Given the description of an element on the screen output the (x, y) to click on. 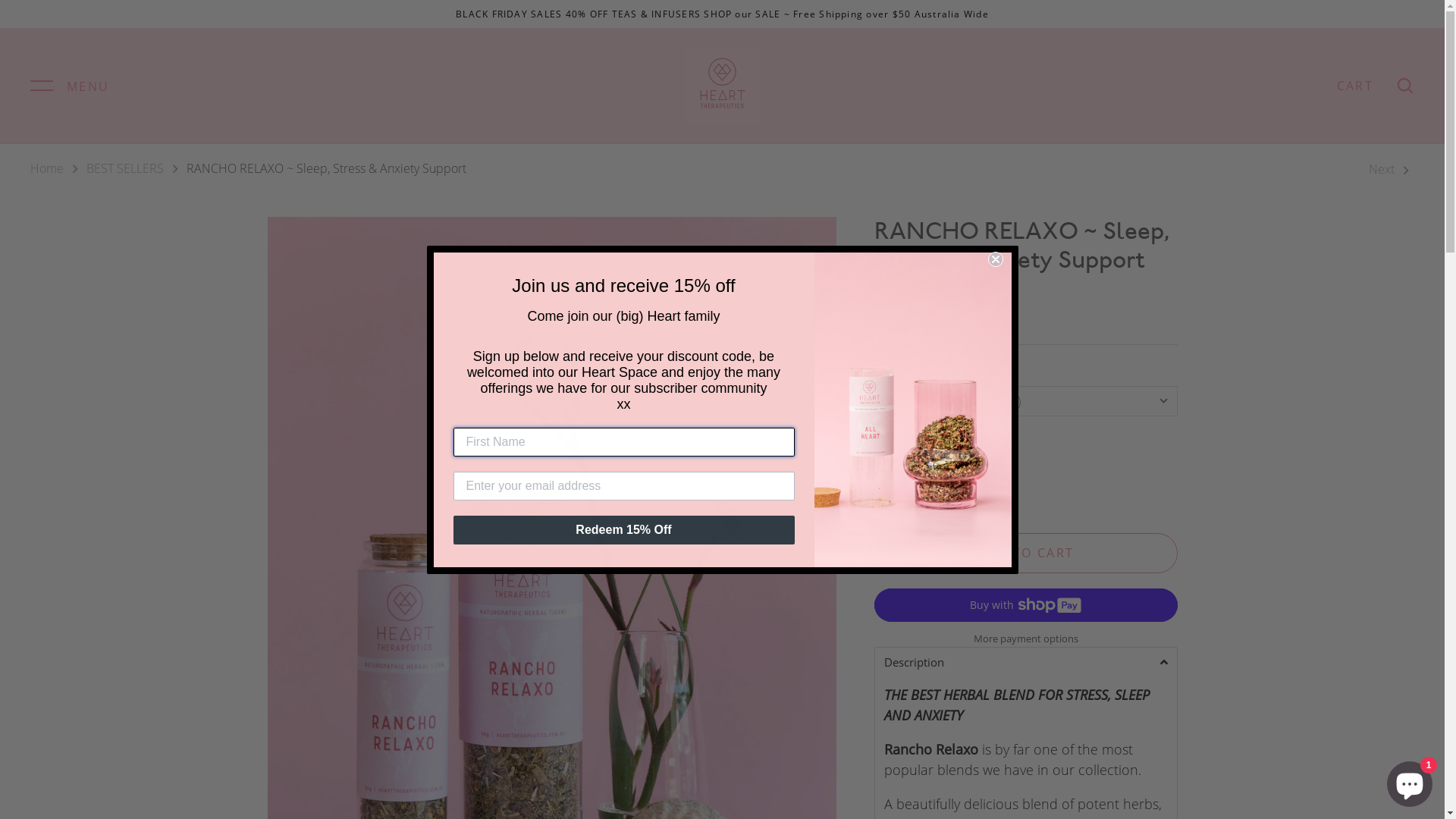
Shopify online store chat Element type: hover (1409, 780)
More payment options Element type: text (1024, 638)
Redeem 15% Off Element type: text (623, 529)
ADD TO CART Element type: text (1024, 553)
Next Right Element type: text (1391, 169)
BEST SELLERS Element type: text (124, 168)
MENU Element type: text (69, 86)
SEARCH Element type: text (1405, 85)
CART Element type: text (1354, 85)
Home Element type: text (46, 168)
Submit Element type: text (46, 19)
